Given the description of an element on the screen output the (x, y) to click on. 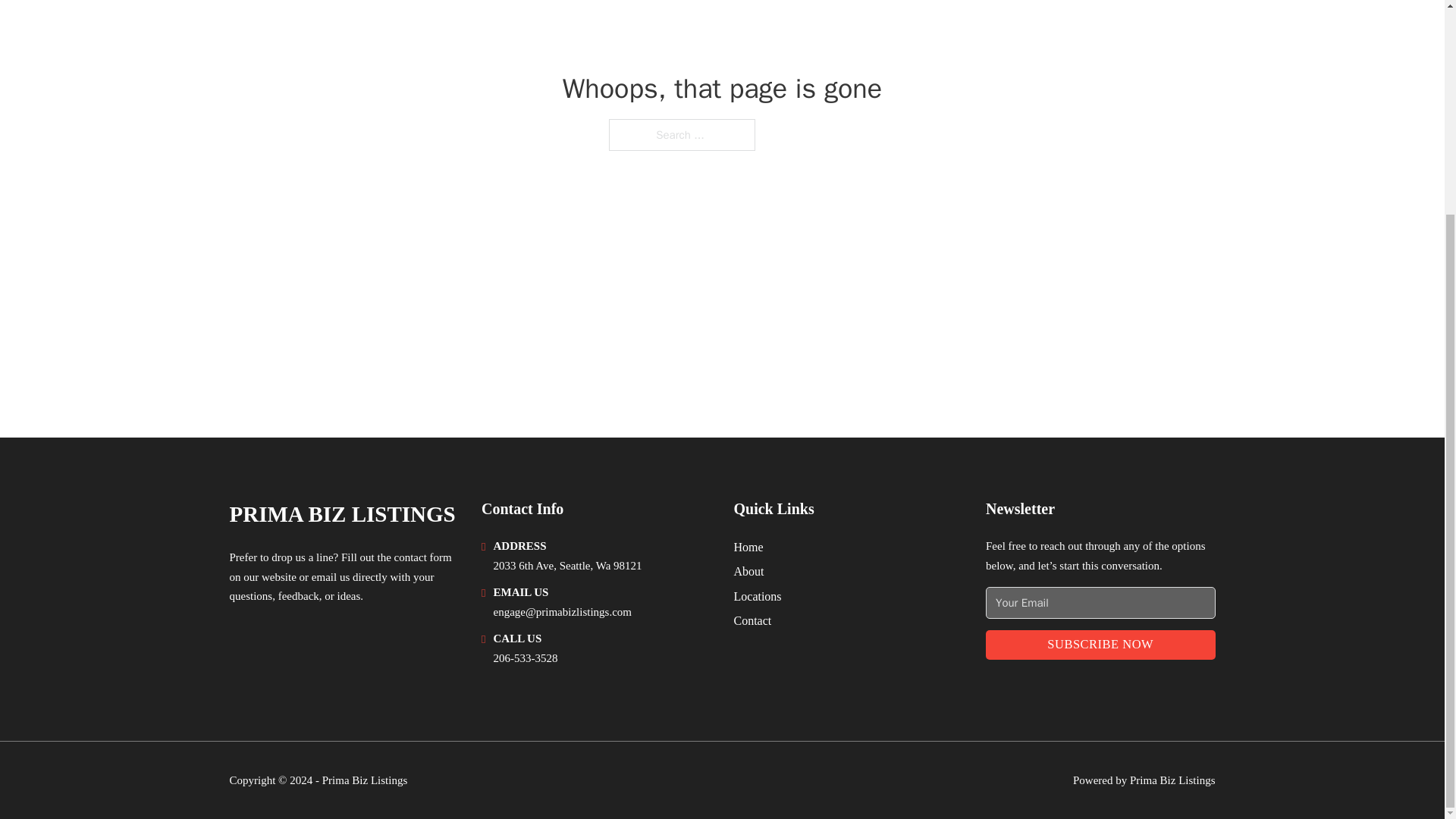
Contact (752, 620)
206-533-3528 (525, 657)
PRIMA BIZ LISTINGS (341, 514)
SUBSCRIBE NOW (1100, 644)
Home (747, 547)
About (748, 571)
Locations (757, 596)
